Given the description of an element on the screen output the (x, y) to click on. 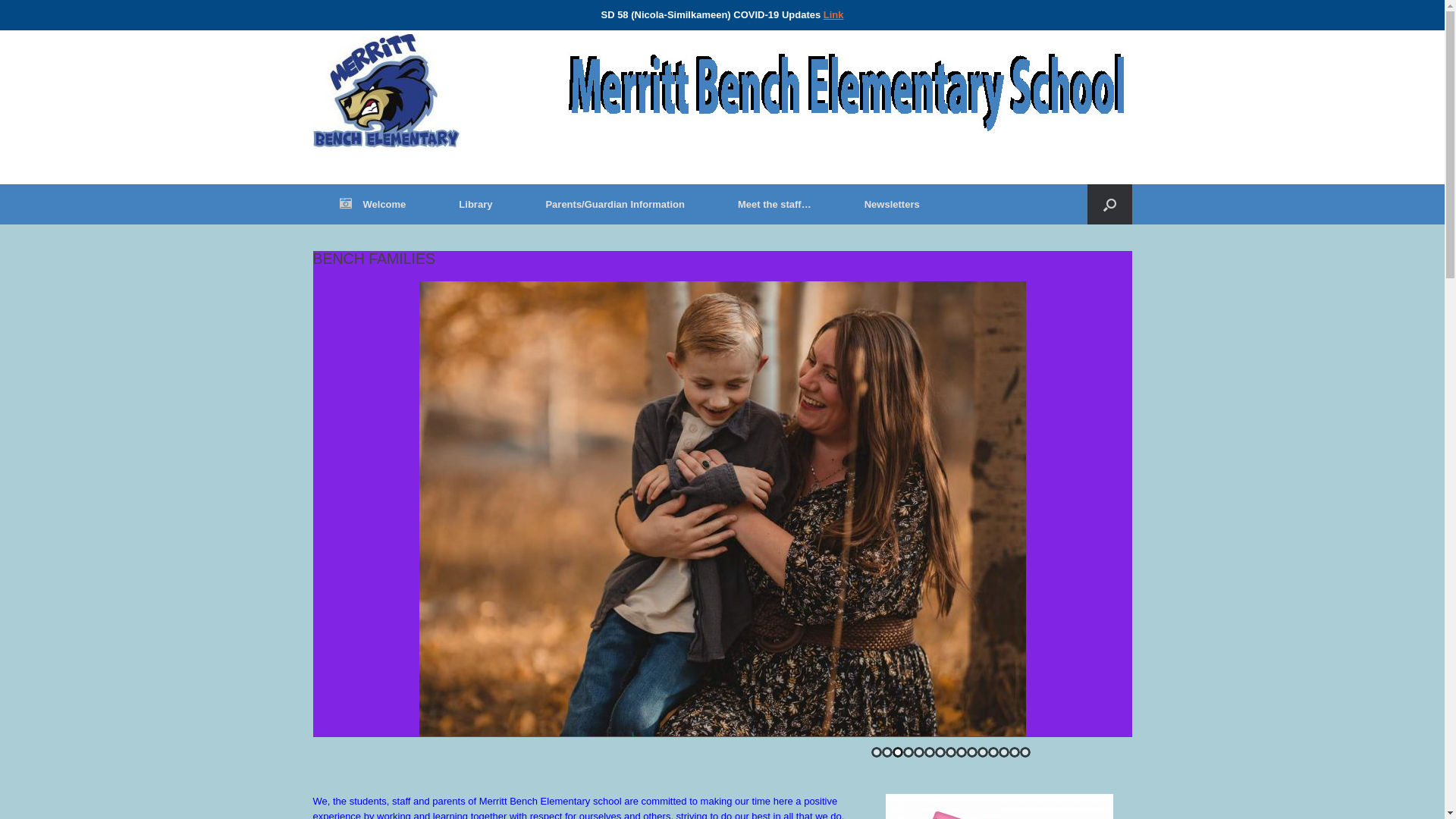
Newsletters Element type: text (891, 204)
Parents/Guardian Information Element type: text (614, 204)
14 Element type: text (1013, 751)
7 Element type: text (939, 751)
Merritt Bench Elementary School Element type: hover (385, 92)
10 Element type: text (971, 751)
9 Element type: text (960, 751)
15 Element type: text (1024, 751)
8 Element type: text (949, 751)
Link Element type: text (833, 14)
12 Element type: text (992, 751)
sinclair Element type: hover (721, 508)
13 Element type: text (1002, 751)
Merritt Bench text headline Element type: hover (845, 91)
4 Element type: text (907, 751)
11 Element type: text (981, 751)
Library Element type: text (475, 204)
2 Element type: text (886, 751)
1 Element type: text (875, 751)
6 Element type: text (928, 751)
3 Element type: text (896, 751)
Welcome Element type: text (372, 204)
5 Element type: text (918, 751)
